Given the description of an element on the screen output the (x, y) to click on. 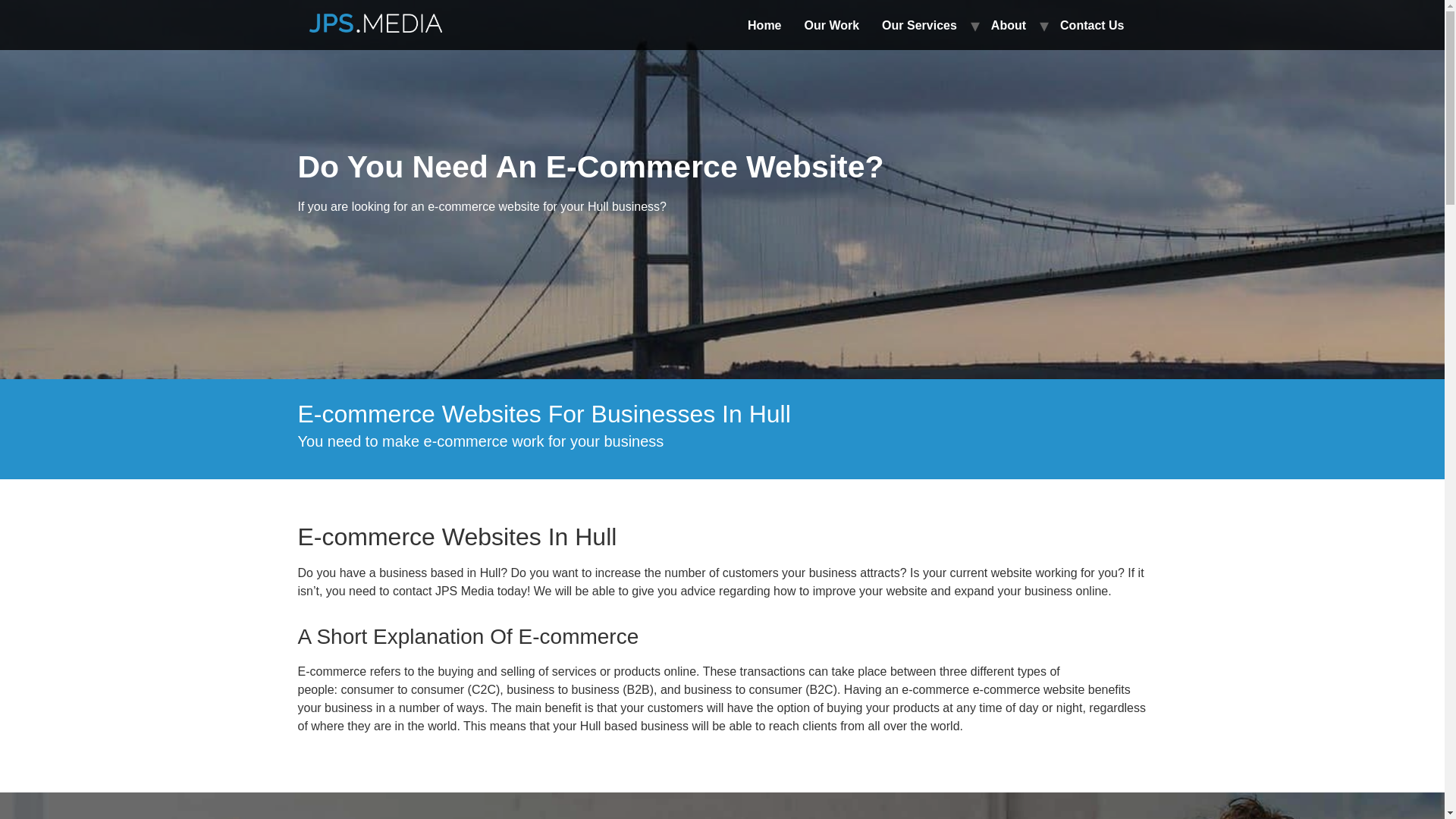
Our Work (831, 25)
About (1007, 25)
Our Services (919, 25)
Contact Us (1091, 25)
Home (764, 25)
